Given the description of an element on the screen output the (x, y) to click on. 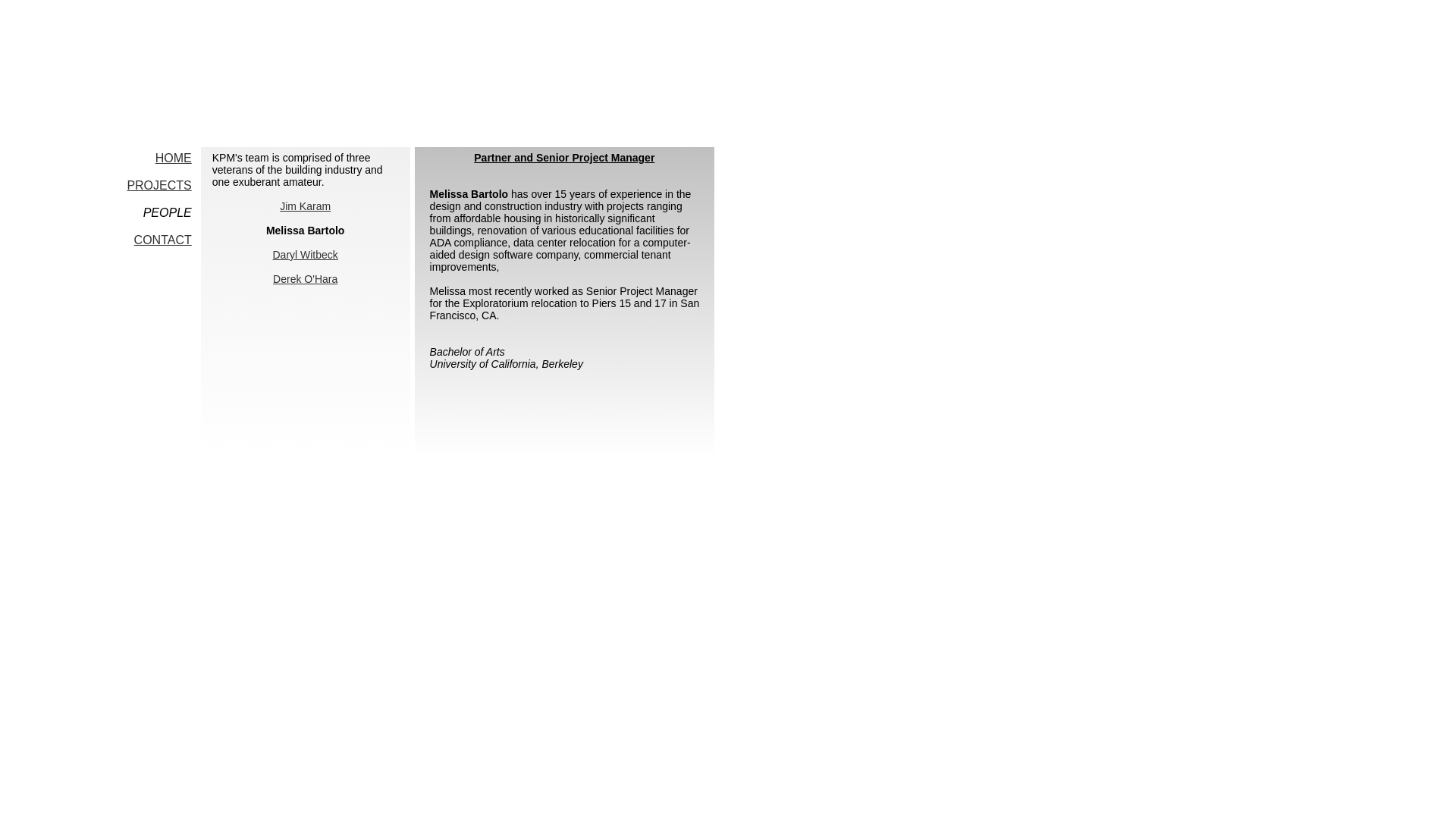
Daryl Witbeck (304, 254)
CONTACT (162, 239)
Jim Karam (304, 205)
PROJECTS (158, 185)
Derek O'Hara (305, 278)
HOME (173, 157)
